Given the description of an element on the screen output the (x, y) to click on. 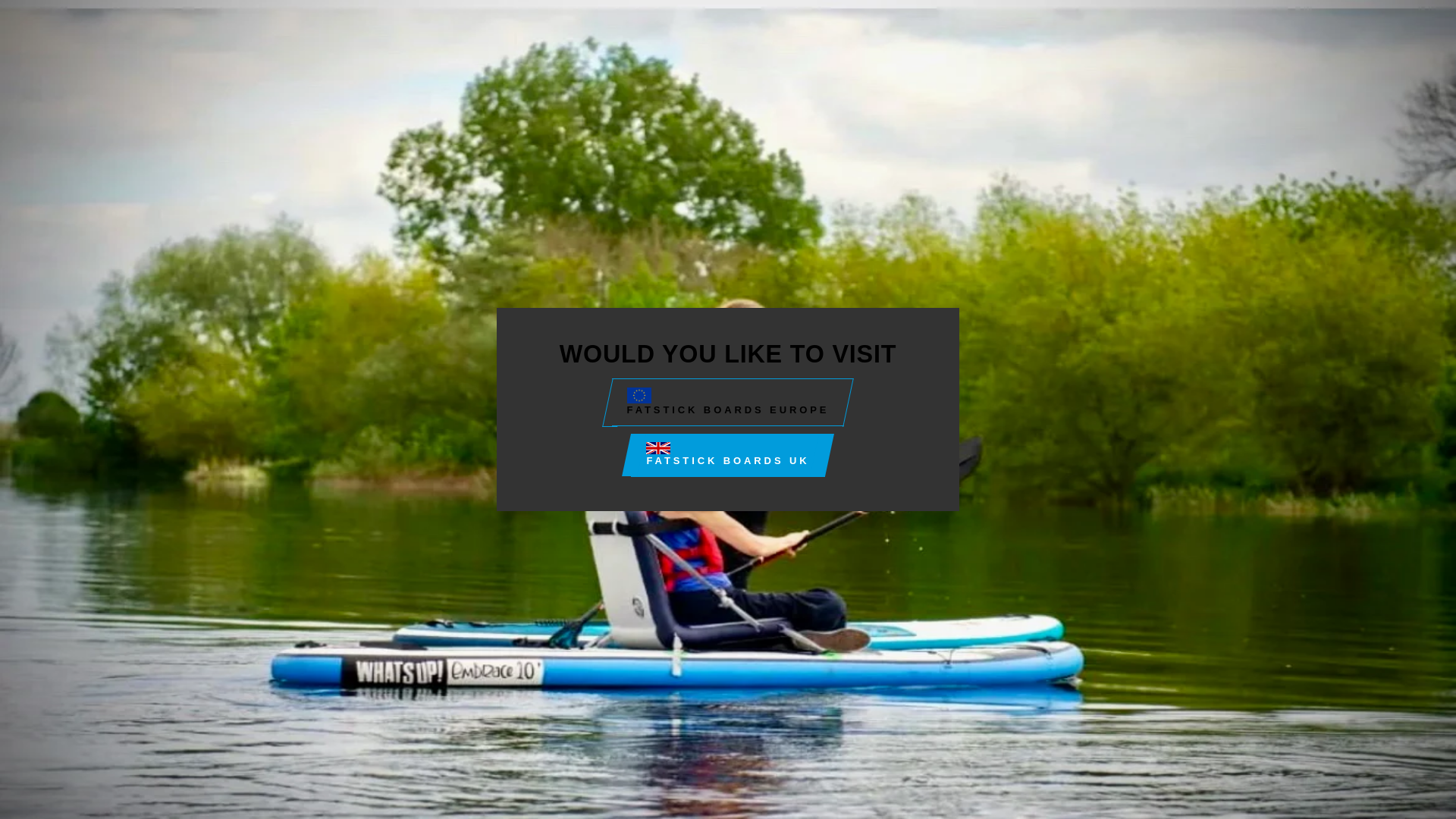
Apple Pay (587, 727)
American Express (552, 727)
Mastercard (762, 727)
Union Pay (867, 727)
PayPal (797, 727)
Maestro (727, 727)
Shop Pay (832, 727)
Discover (657, 727)
Visa (902, 727)
Google Pay (692, 727)
Diners Club (622, 727)
